Given the description of an element on the screen output the (x, y) to click on. 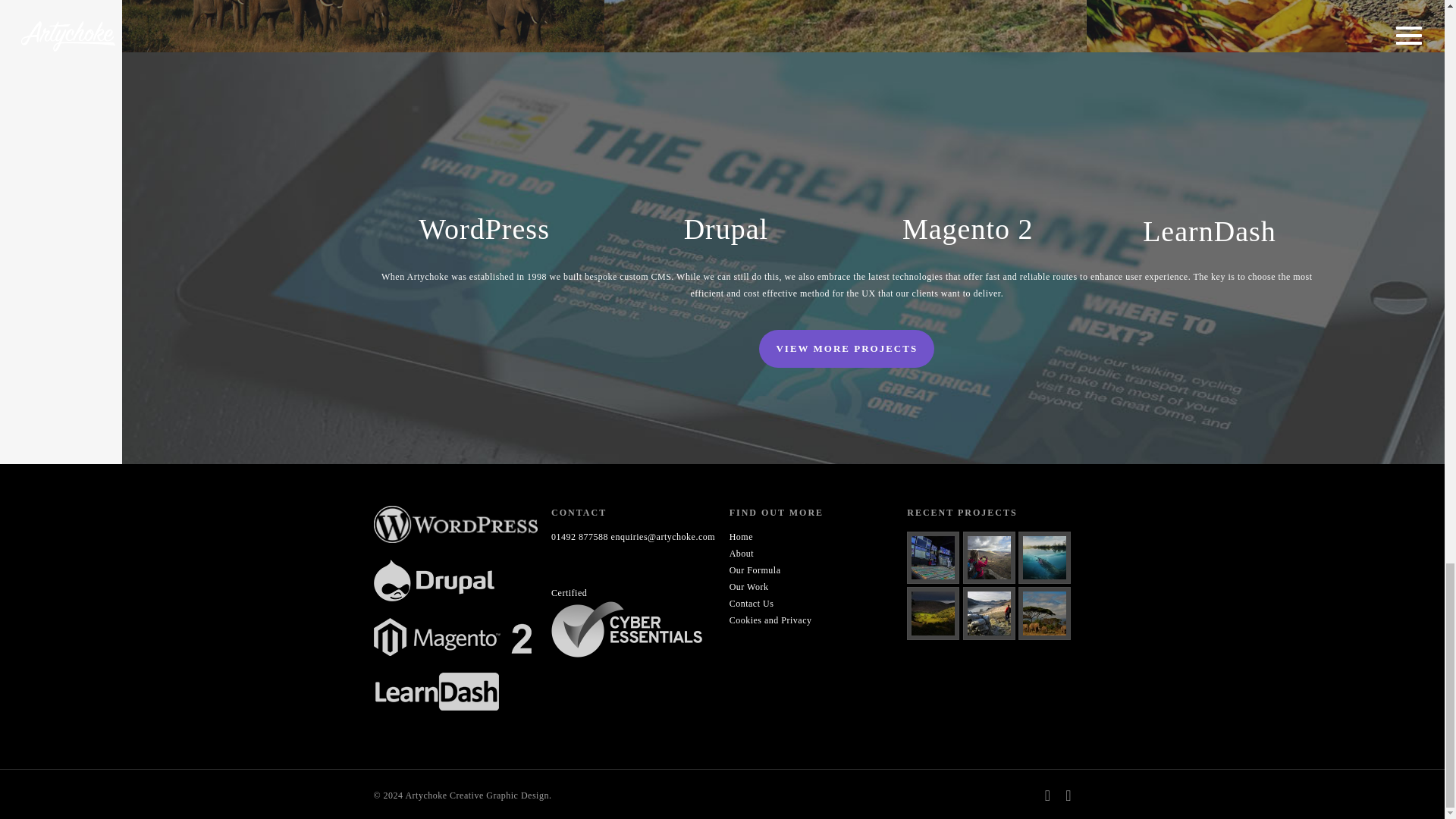
Contact Us (751, 603)
Our Formula (754, 570)
Home (740, 536)
Our Work (748, 586)
Home (740, 536)
Our Formula (754, 570)
VIEW MORE PROJECTS (846, 348)
About (741, 552)
Our Work (748, 586)
Cookies and Privacy (770, 620)
About (741, 552)
Cookies and Privacy (770, 620)
Send email (663, 536)
Contact Us (751, 603)
